Given the description of an element on the screen output the (x, y) to click on. 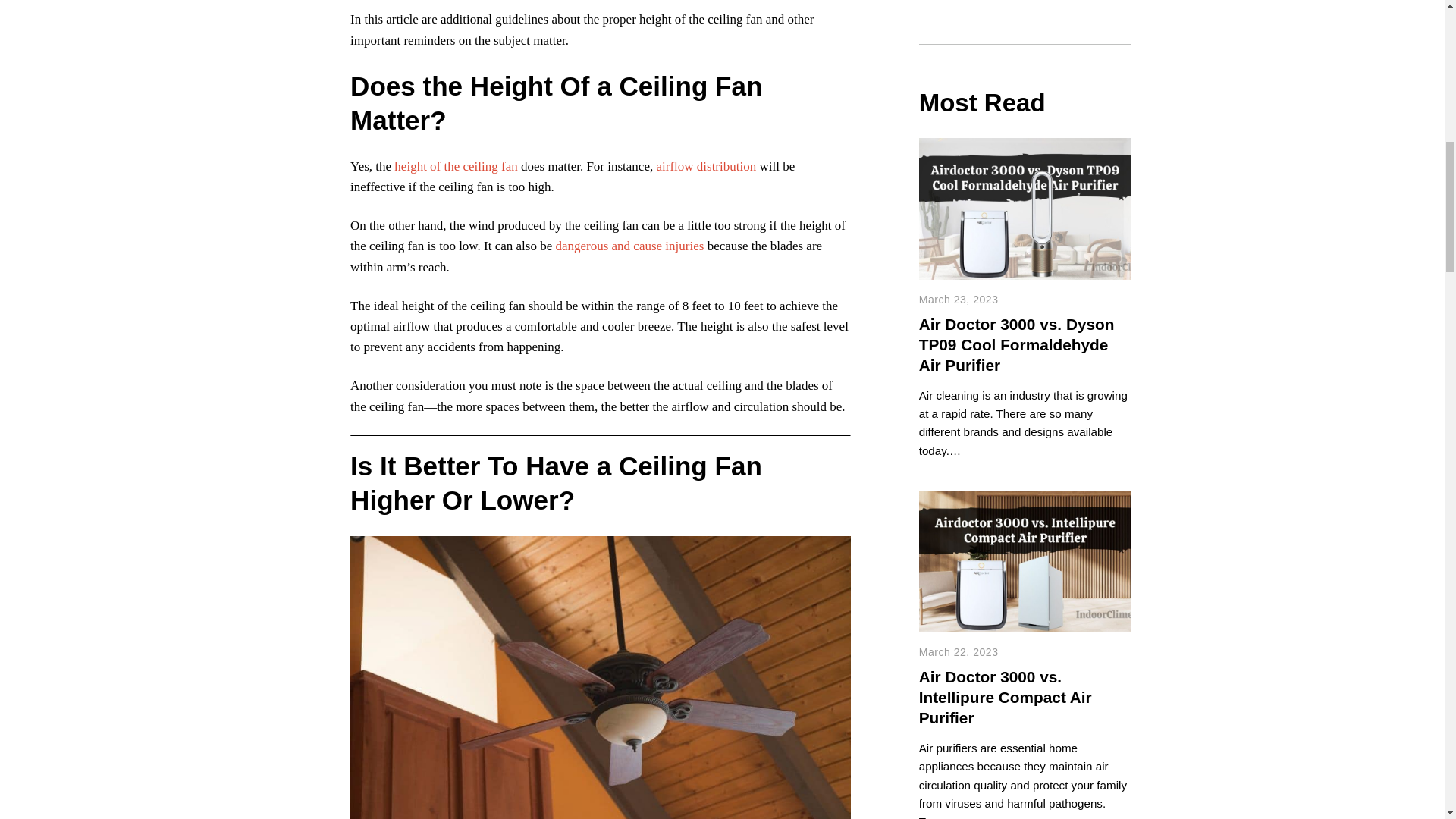
dangerous and cause injuries (628, 246)
airflow distribution (705, 165)
height of the ceiling fan (455, 165)
